Given the description of an element on the screen output the (x, y) to click on. 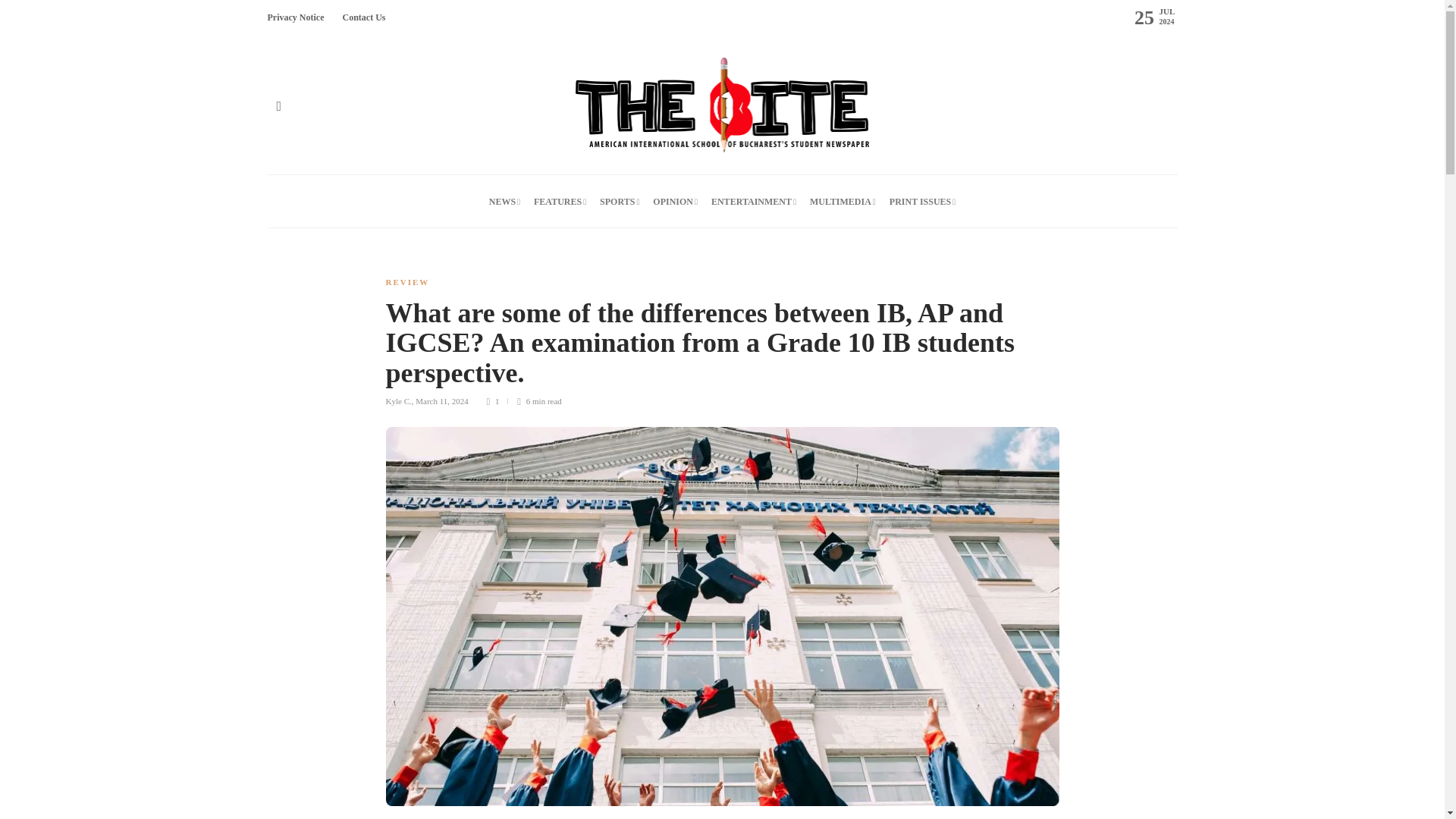
Privacy Notice (294, 17)
Contact Us (363, 17)
